Given the description of an element on the screen output the (x, y) to click on. 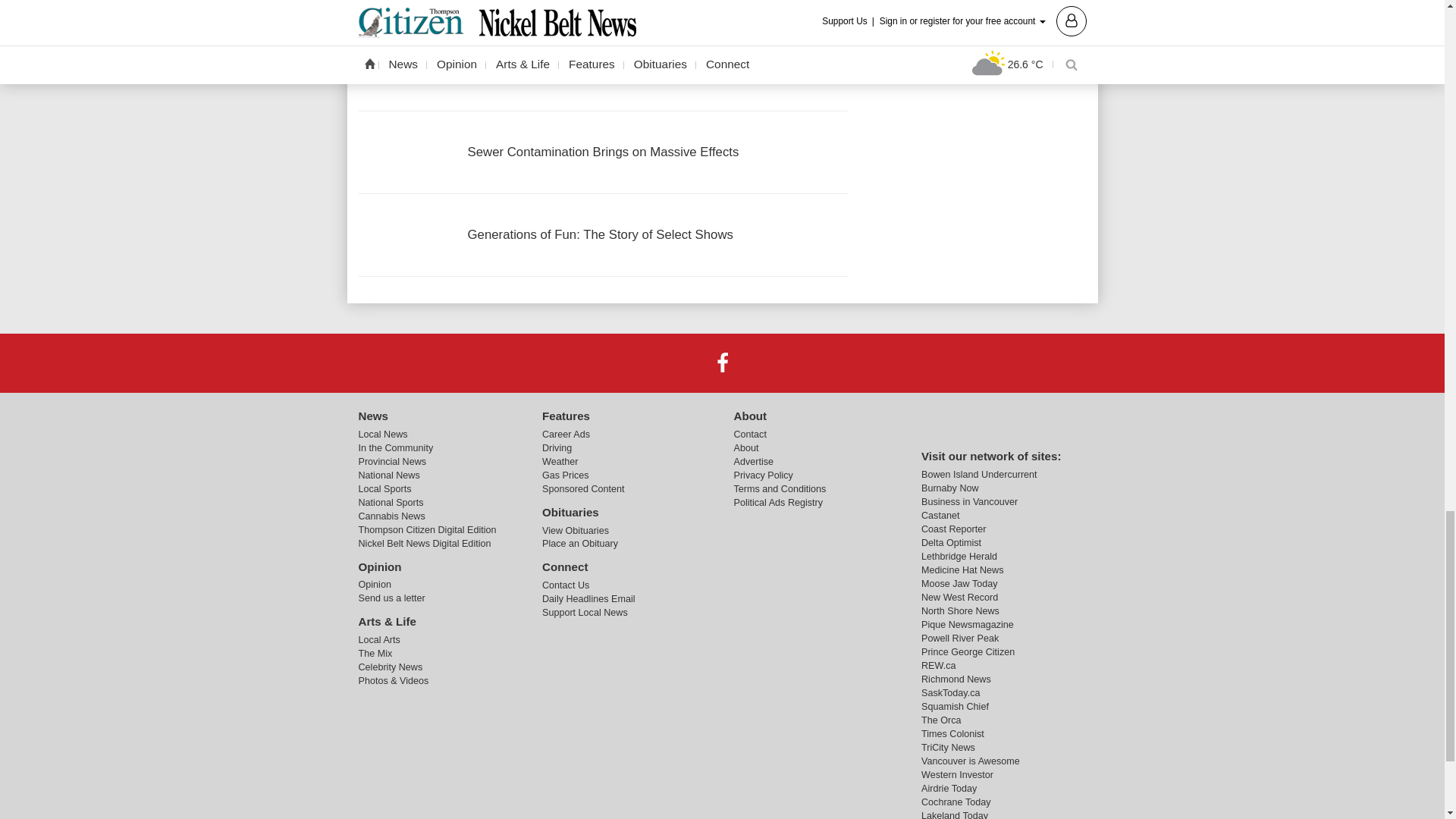
Facebook (721, 362)
